Given the description of an element on the screen output the (x, y) to click on. 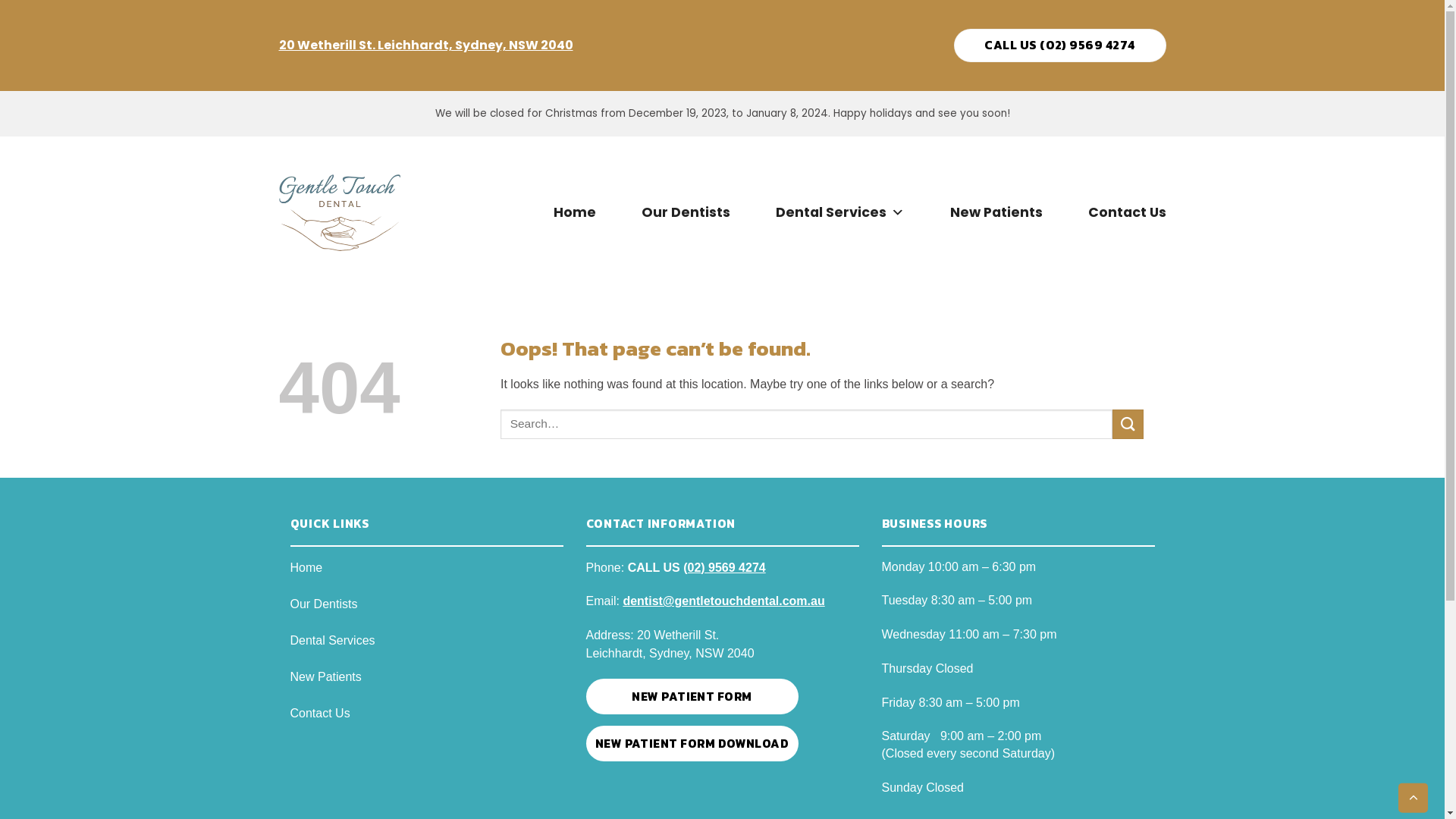
Gentle Touch Dental Element type: hover (339, 212)
Contact Us Element type: text (425, 722)
CALL US Element type: text (653, 567)
(02) 9569 4274 Element type: text (724, 567)
Our Dentists Element type: text (425, 613)
New Patients Element type: text (995, 212)
Home Element type: text (425, 576)
20 Wetherill St. Leichhardt, Sydney, NSW 2040 Element type: text (426, 45)
20 Wetherill St.
Leichhardt, Sydney, NSW 2040 Element type: text (669, 643)
CALL US (02) 9569 4274 Element type: text (1059, 45)
Home Element type: text (574, 212)
dentist@gentletouchdental.com.au Element type: text (723, 600)
Dental Services Element type: text (425, 649)
Dental Services Element type: text (839, 212)
NEW PATIENT FORM Element type: text (691, 696)
Contact Us Element type: text (1126, 212)
NEW PATIENT FORM DOWNLOAD Element type: text (691, 743)
New Patients Element type: text (425, 686)
Our Dentists Element type: text (685, 212)
